Given the description of an element on the screen output the (x, y) to click on. 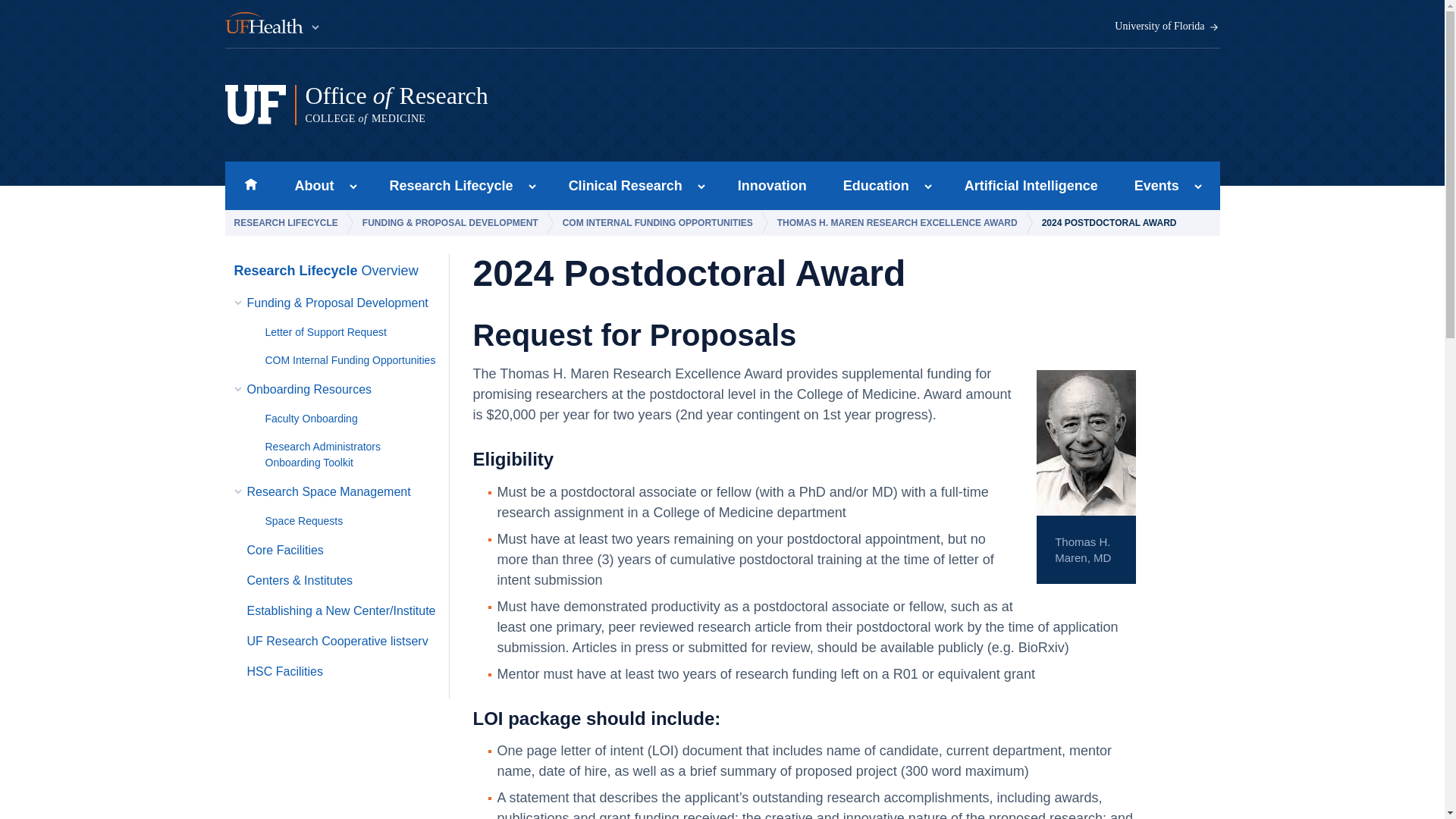
Show submenu for Research Lifecycle (531, 187)
About (309, 185)
Show submenu for Clinical Research (701, 187)
Clinical Research (515, 105)
Skip to main content (620, 185)
Research Lifecycle (1167, 26)
Home (446, 185)
Show submenu for About (250, 185)
UF Health (353, 187)
